Given the description of an element on the screen output the (x, y) to click on. 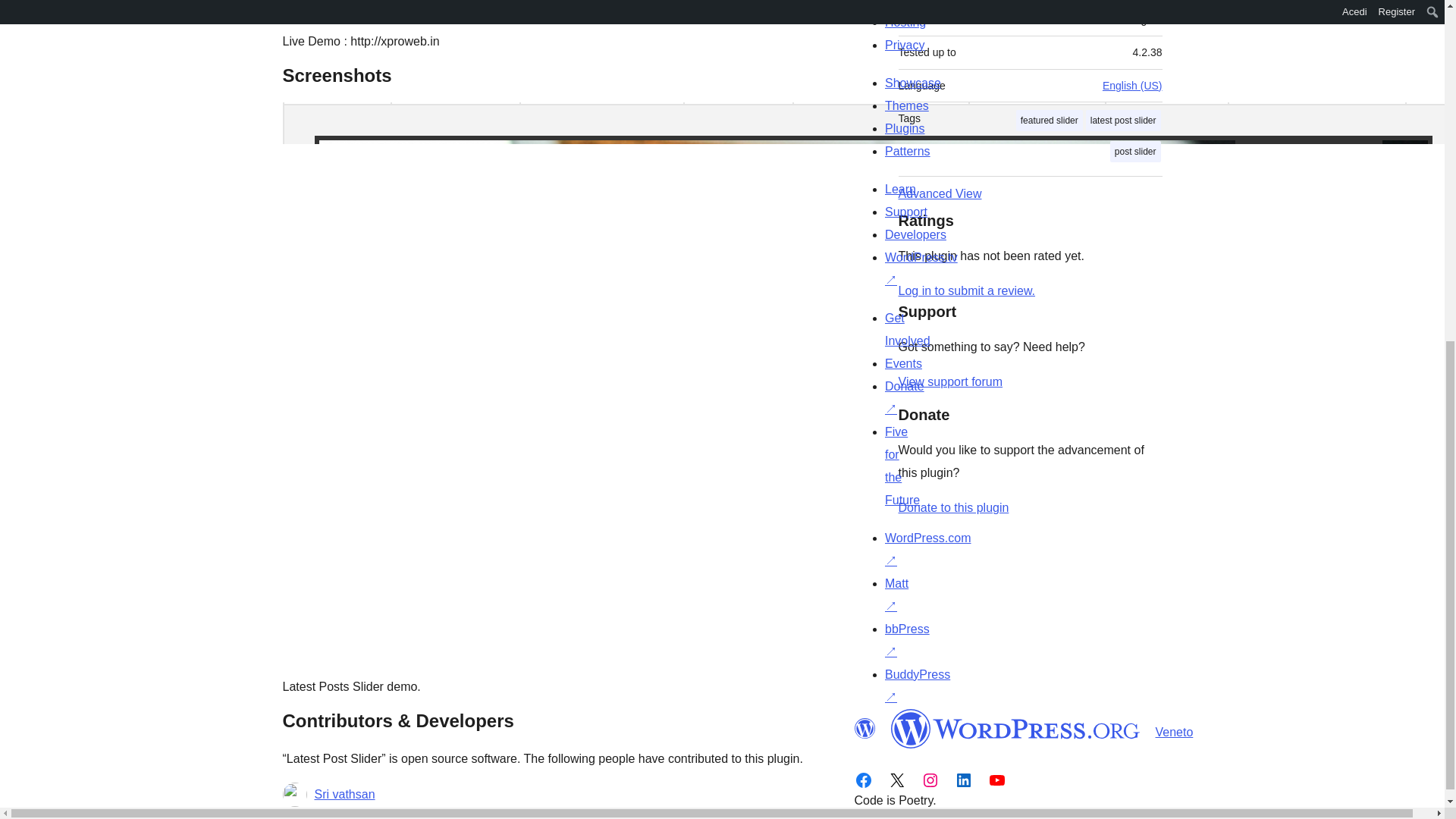
WordPress.org (1014, 728)
Log in to WordPress.org (966, 290)
Sri vathsan (344, 793)
WordPress.org (864, 728)
